Given the description of an element on the screen output the (x, y) to click on. 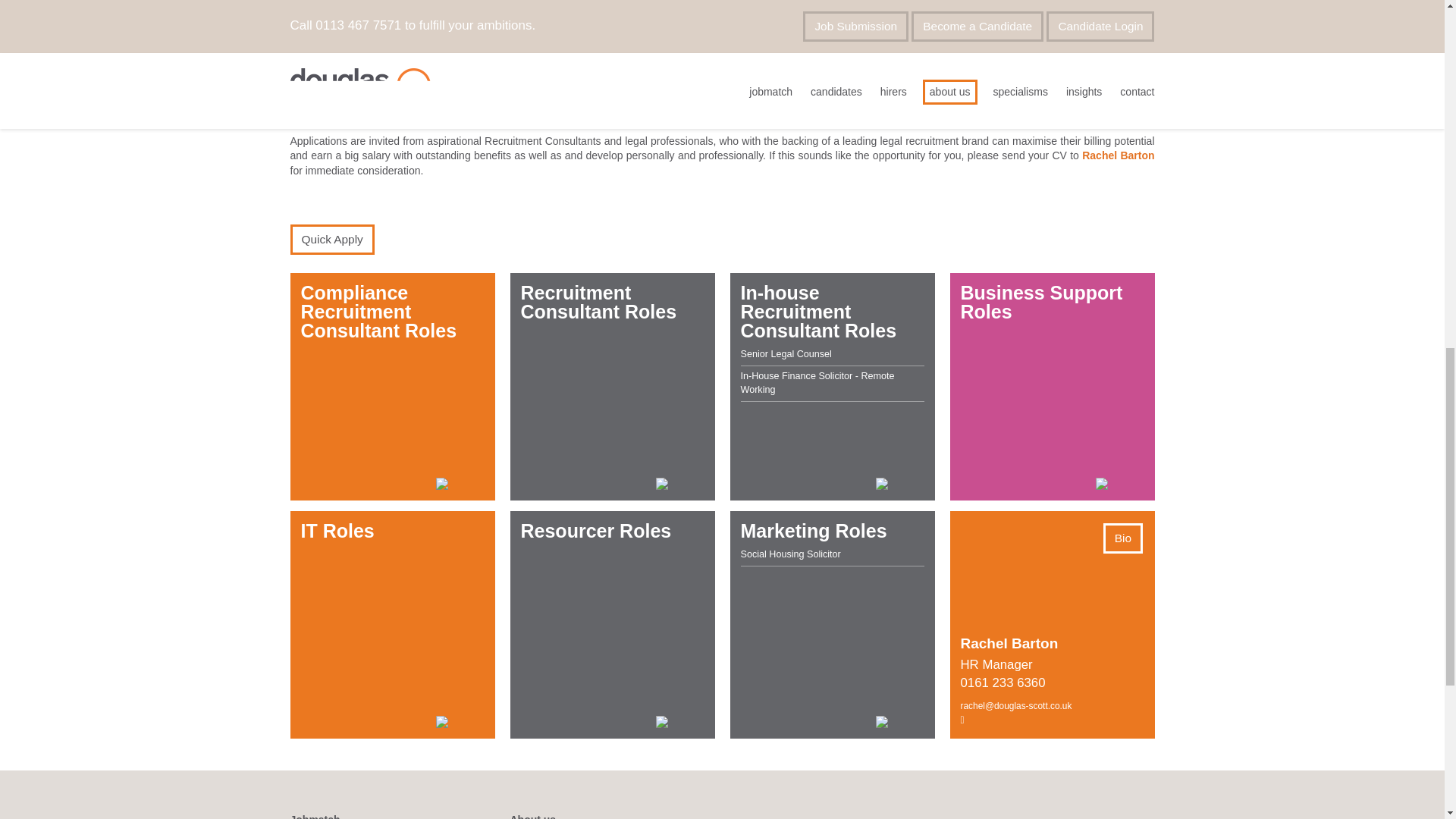
Senior Legal Counsel (831, 354)
In-House Finance Solicitor - Remote Working (831, 384)
Social Housing Solicitor (831, 555)
Bio (1122, 538)
Quick Apply (331, 239)
